Given the description of an element on the screen output the (x, y) to click on. 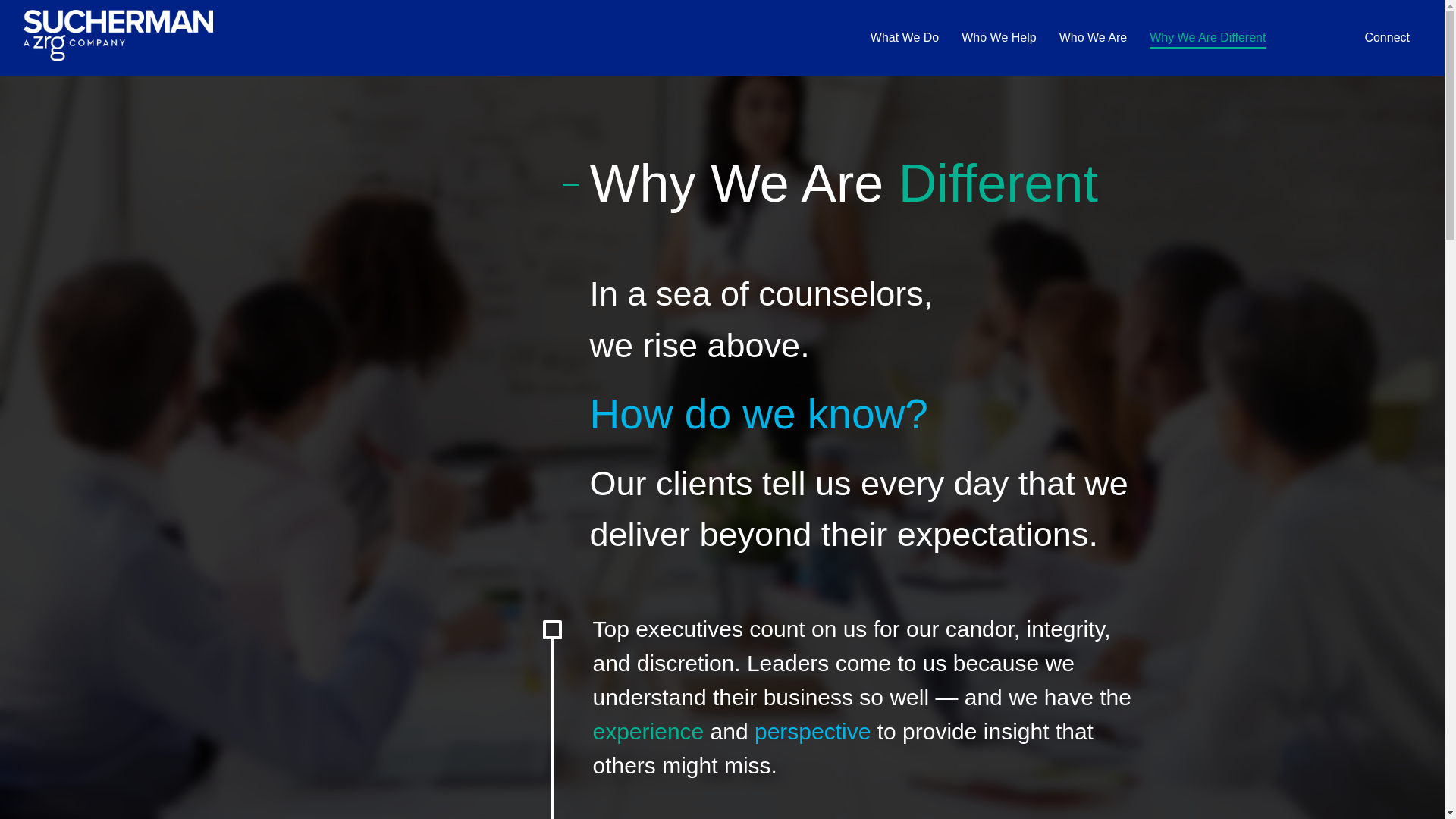
Who We Help (997, 35)
Who We Are (1092, 35)
What We Do (904, 35)
Connect (1386, 35)
Why We Are Different (1207, 35)
